Given the description of an element on the screen output the (x, y) to click on. 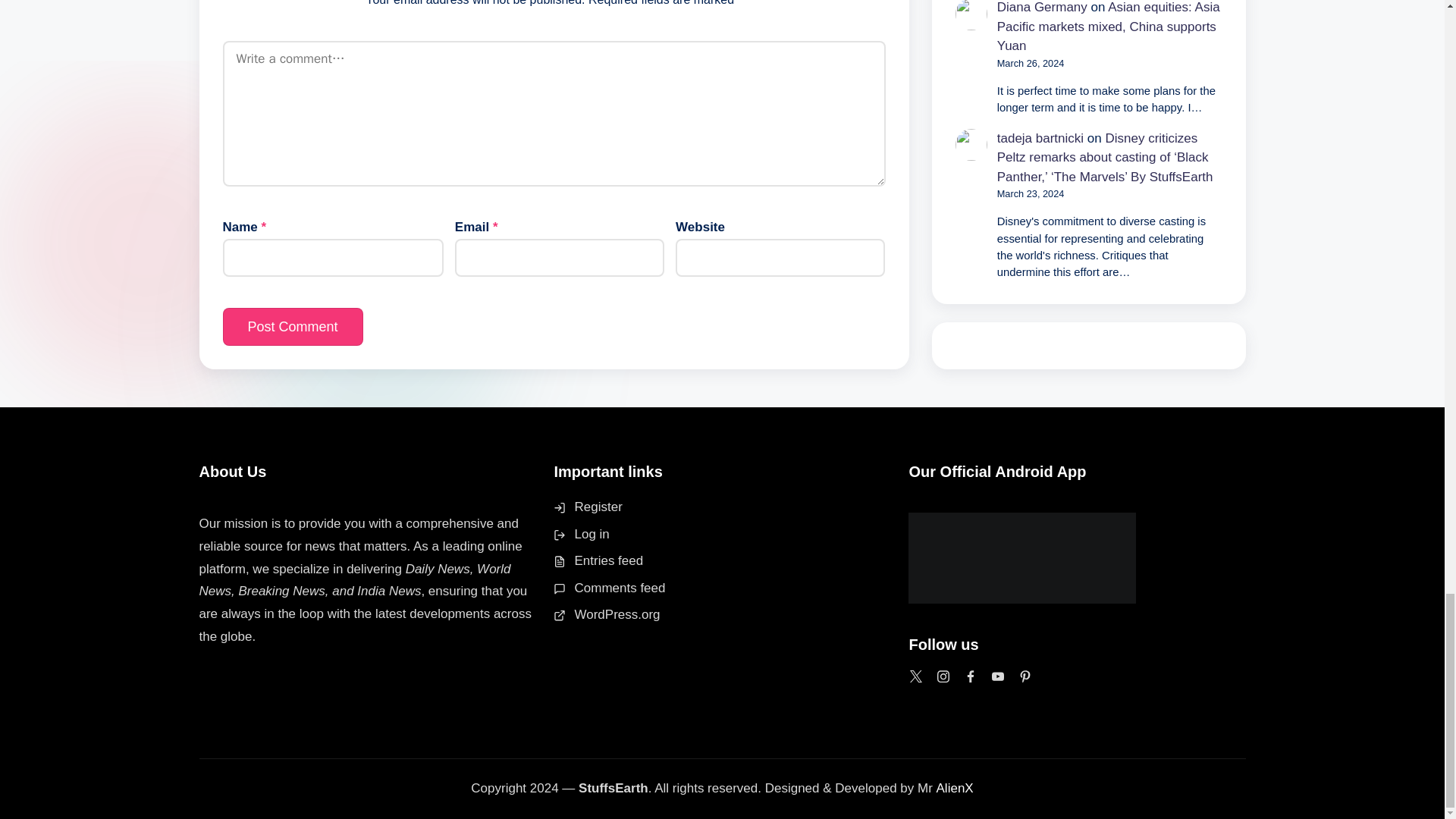
Twitter (915, 676)
Facebook (970, 676)
Instagram (943, 676)
Post Comment (292, 326)
Pinterest (1024, 676)
Youtube (998, 676)
